Given the description of an element on the screen output the (x, y) to click on. 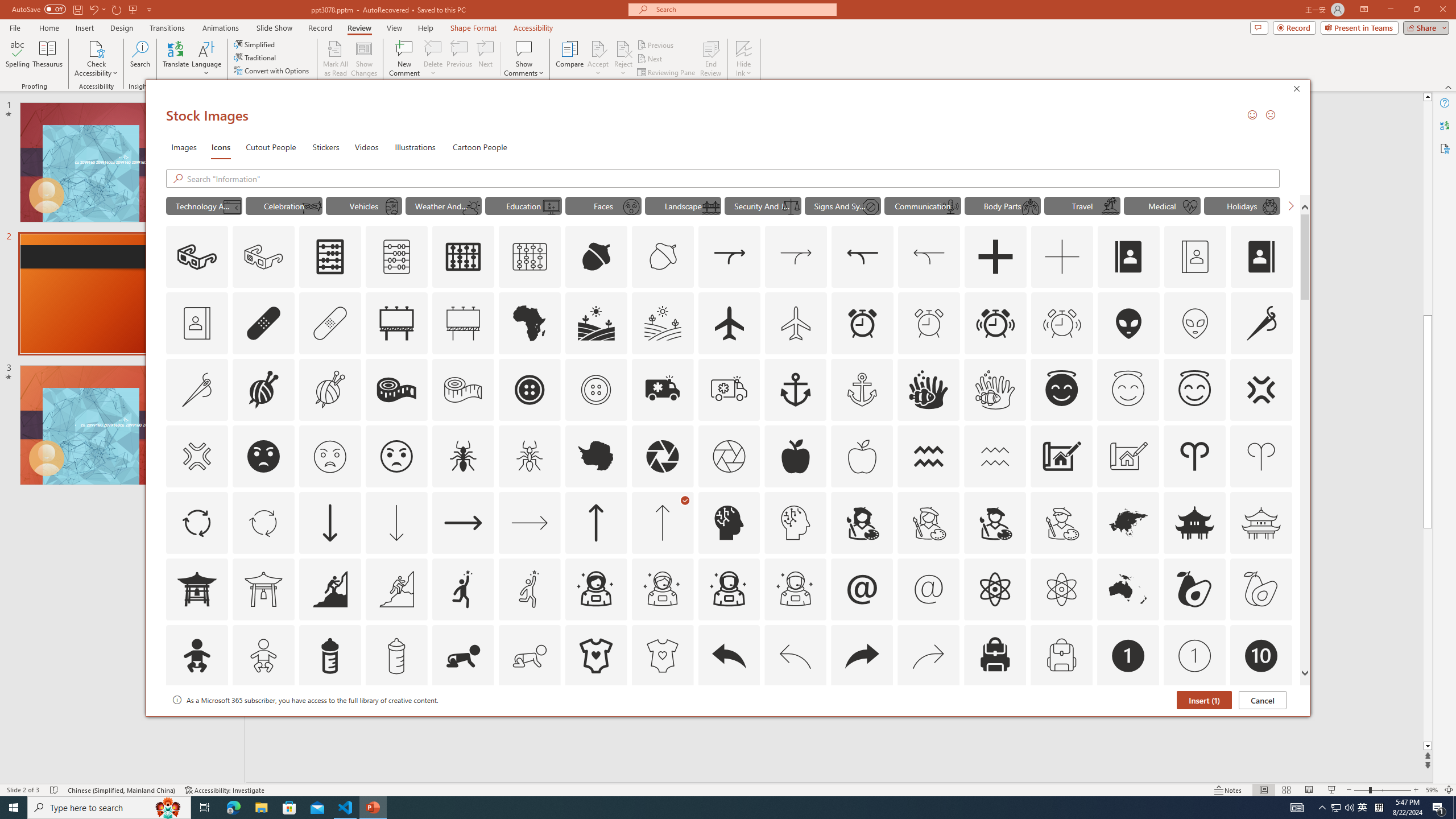
AutomationID: Icons_Africa (529, 323)
AutomationID: Icons_Abacus1_M (529, 256)
AutomationID: Icons_ArrowDown_M (395, 522)
AutomationID: Icons_Podcast_M (950, 206)
AutomationID: Icons_Badge7 (928, 721)
